Given the description of an element on the screen output the (x, y) to click on. 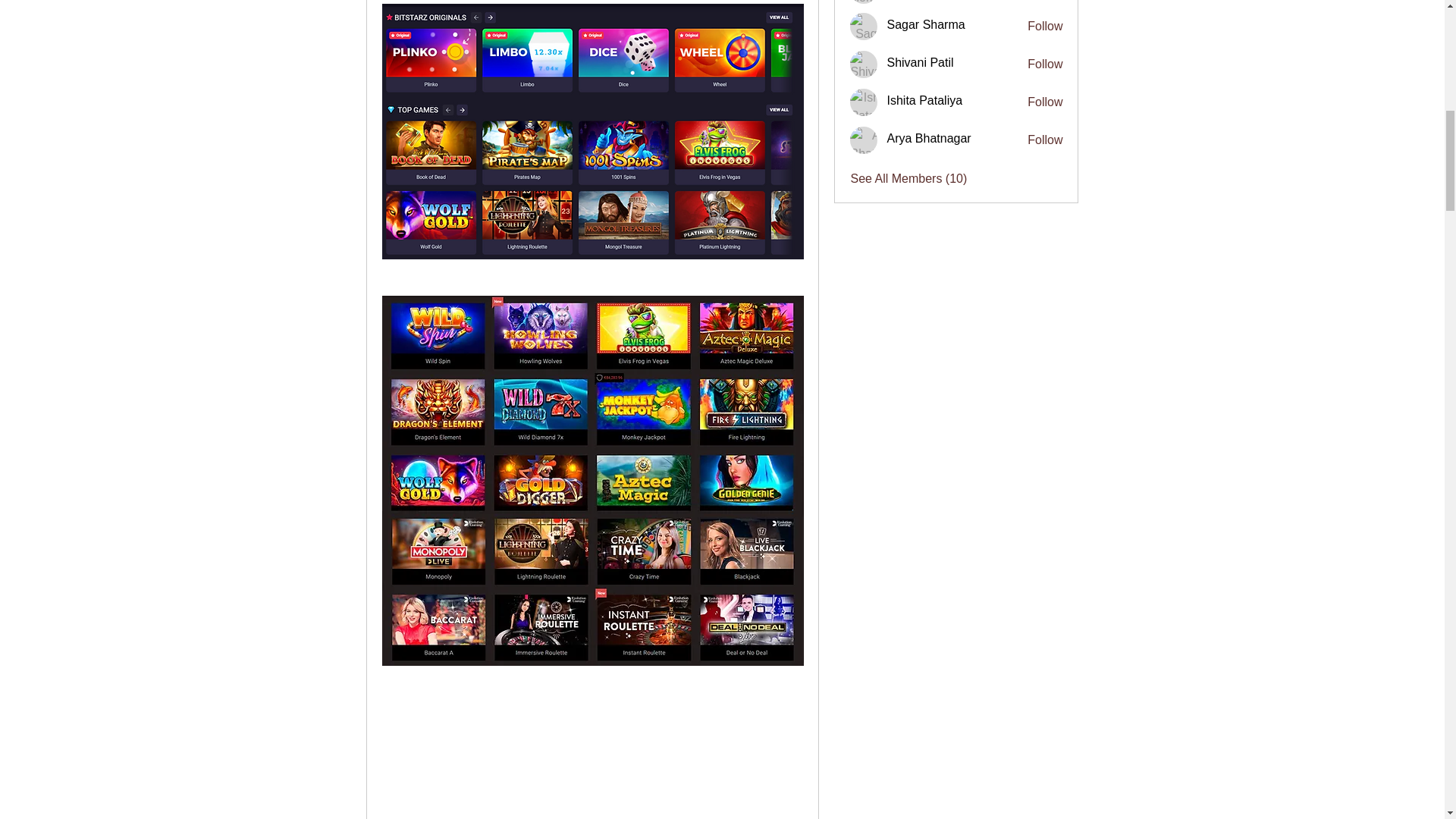
Arya Bhatnagar (863, 139)
Follow (1044, 64)
Follow (1044, 26)
Shivani Patil (863, 63)
Sagar Sharma (863, 26)
Follow (1044, 139)
Follow (1044, 102)
siomara2580 (863, 2)
Ishita Pataliya (863, 102)
